Given the description of an element on the screen output the (x, y) to click on. 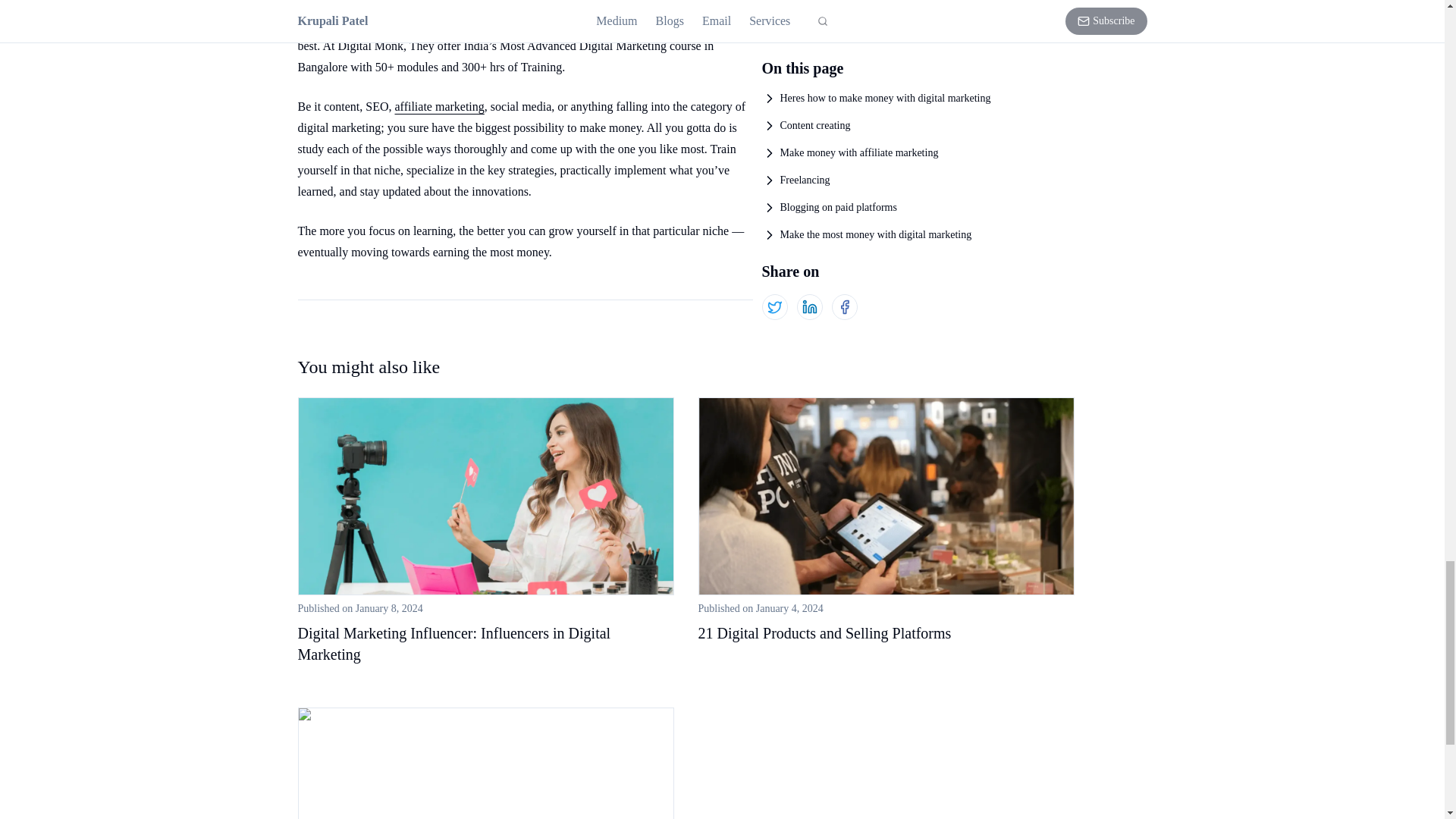
affiliate marketing (438, 106)
